Given the description of an element on the screen output the (x, y) to click on. 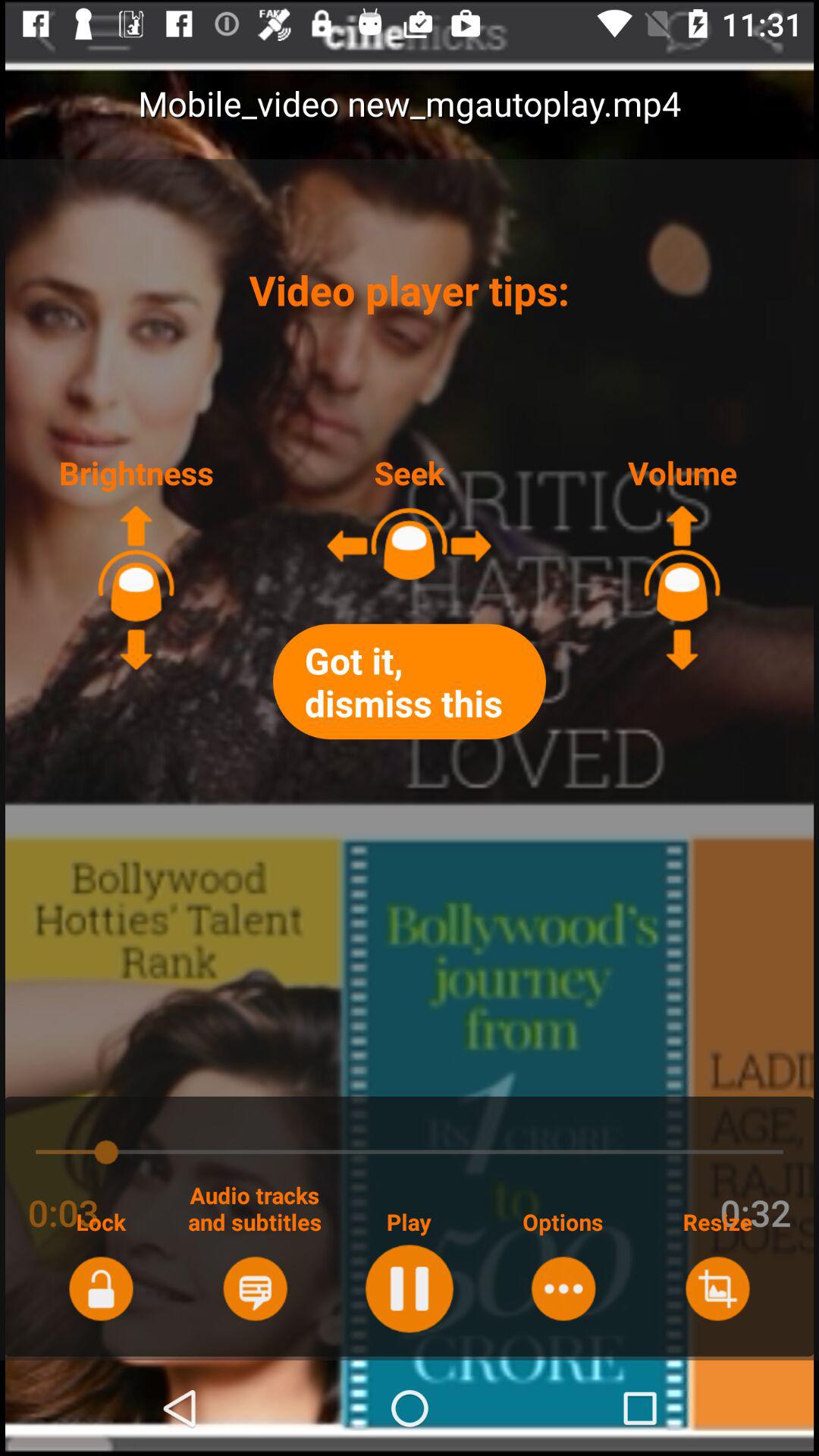
click to resize (717, 1288)
